Given the description of an element on the screen output the (x, y) to click on. 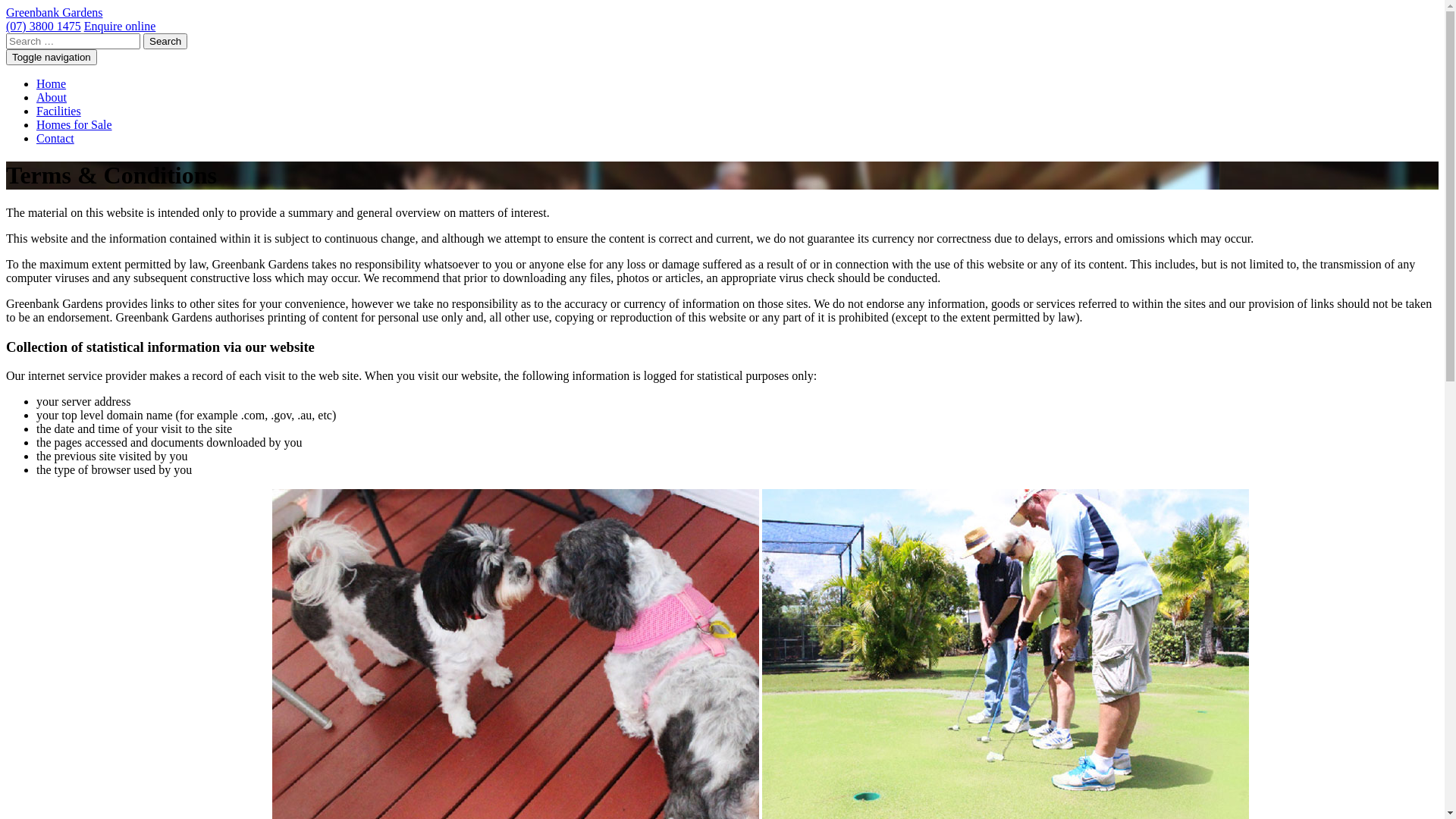
Search Element type: text (165, 41)
Homes for Sale Element type: text (74, 124)
Greenbank Gardens Element type: text (54, 12)
Toggle navigation Element type: text (51, 57)
(07) 3800 1475 Element type: text (43, 25)
About Element type: text (51, 97)
Home Element type: text (50, 83)
Contact Element type: text (55, 137)
Facilities Element type: text (58, 110)
Enquire online Element type: text (120, 25)
